Given the description of an element on the screen output the (x, y) to click on. 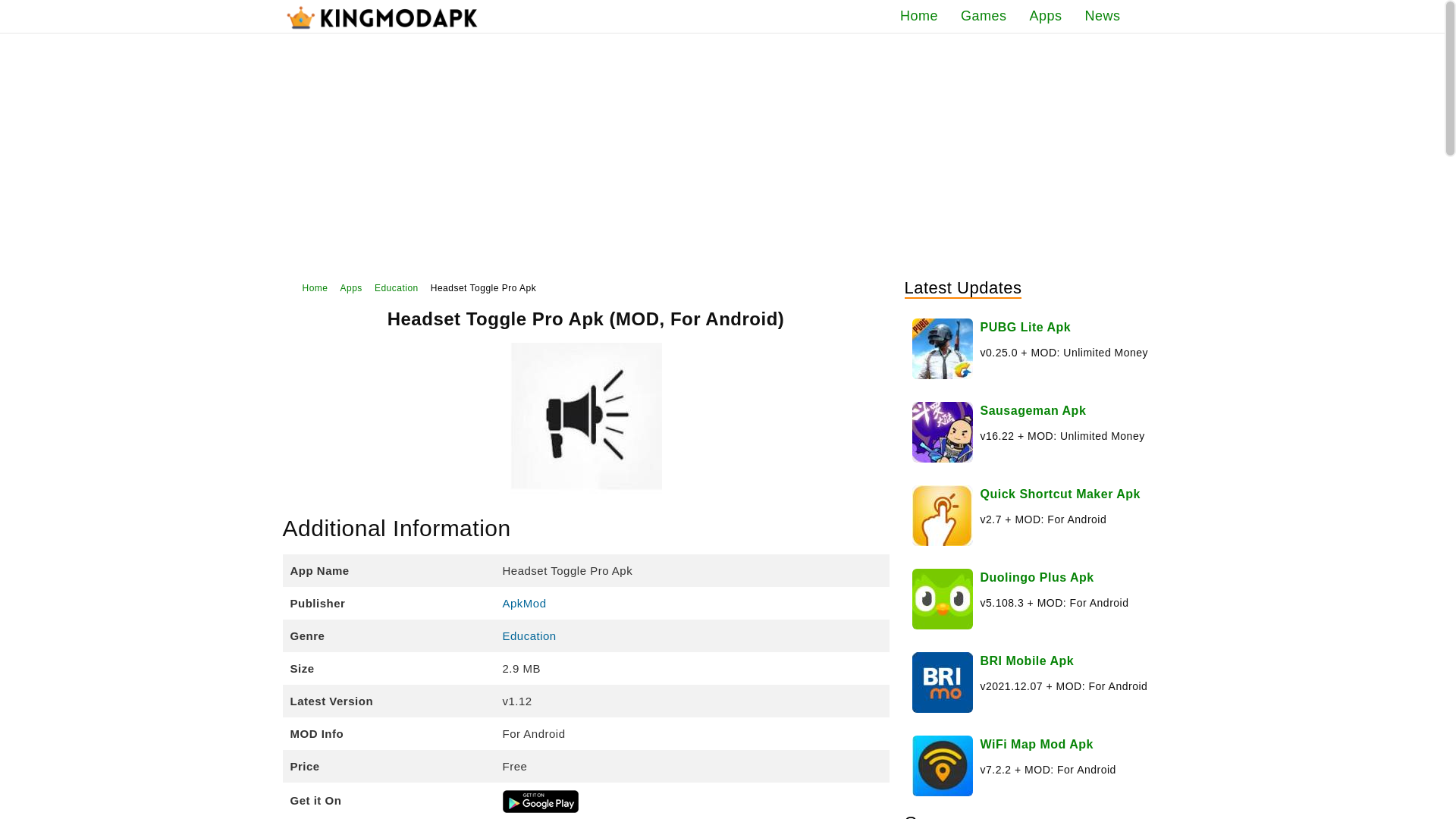
Home (308, 287)
Home (918, 16)
Education (396, 287)
Open search Box (1146, 15)
News (1102, 16)
Education (529, 635)
Apps (351, 287)
Apps (1045, 16)
ApkMod (524, 603)
Headset Toggle Pro Apk (483, 287)
Games (983, 16)
